Given the description of an element on the screen output the (x, y) to click on. 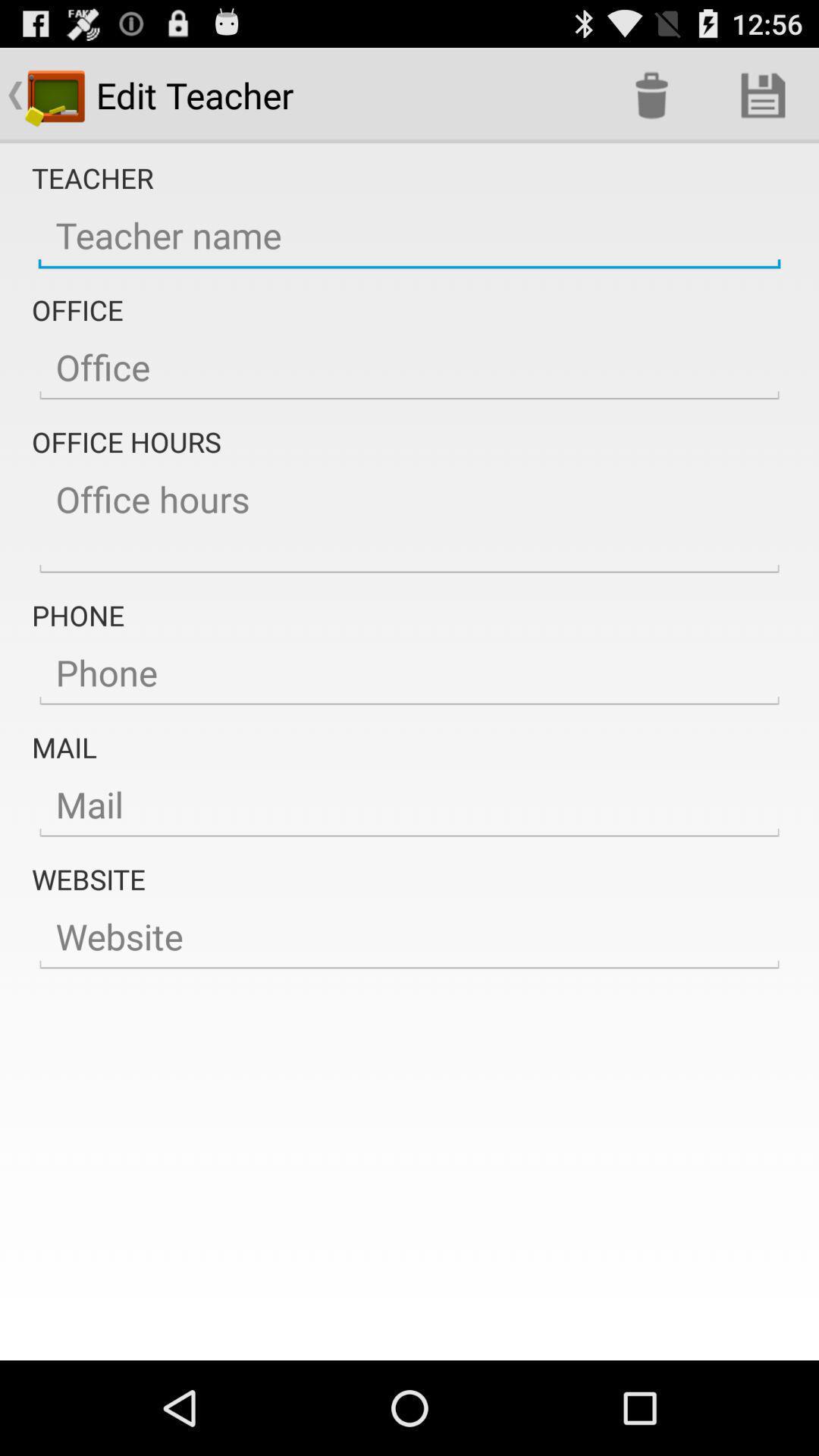
select the text field which is below mail on the page (409, 804)
select the icon which is to the left side of edit teacher option (55, 95)
click on save icon (763, 95)
select the button which is below office (409, 368)
